Given the description of an element on the screen output the (x, y) to click on. 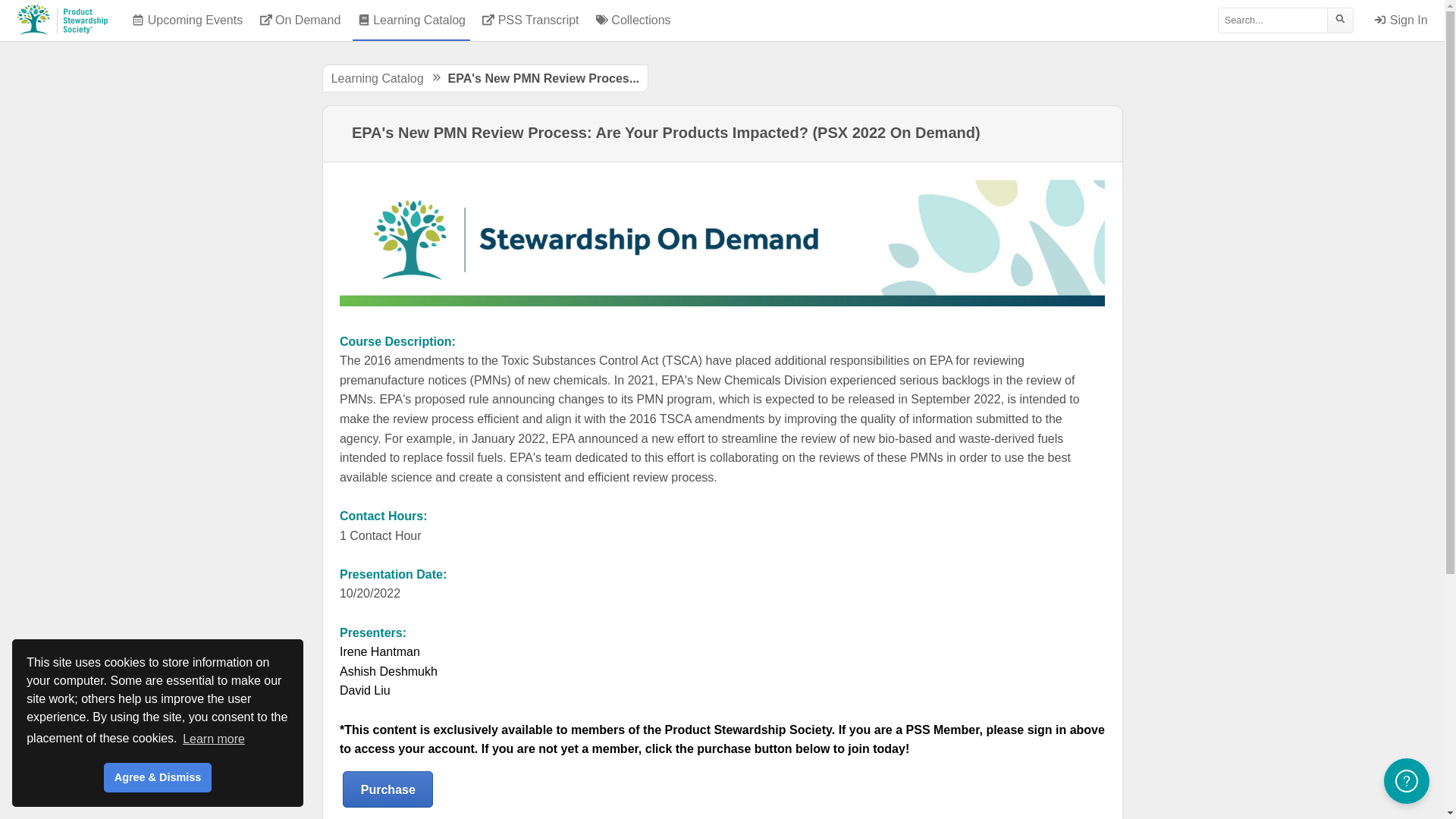
Collections (634, 20)
Sign In (1401, 20)
Purchase (387, 789)
Upcoming Events (187, 20)
On Demand (300, 20)
Product Stewardship Society (62, 20)
PSS Transcript (530, 20)
Upcoming Events (187, 20)
Learn more (213, 738)
Learning Catalog (411, 20)
Learning Catalog (377, 78)
Learning Catalog (411, 20)
Collections (634, 20)
